Given the description of an element on the screen output the (x, y) to click on. 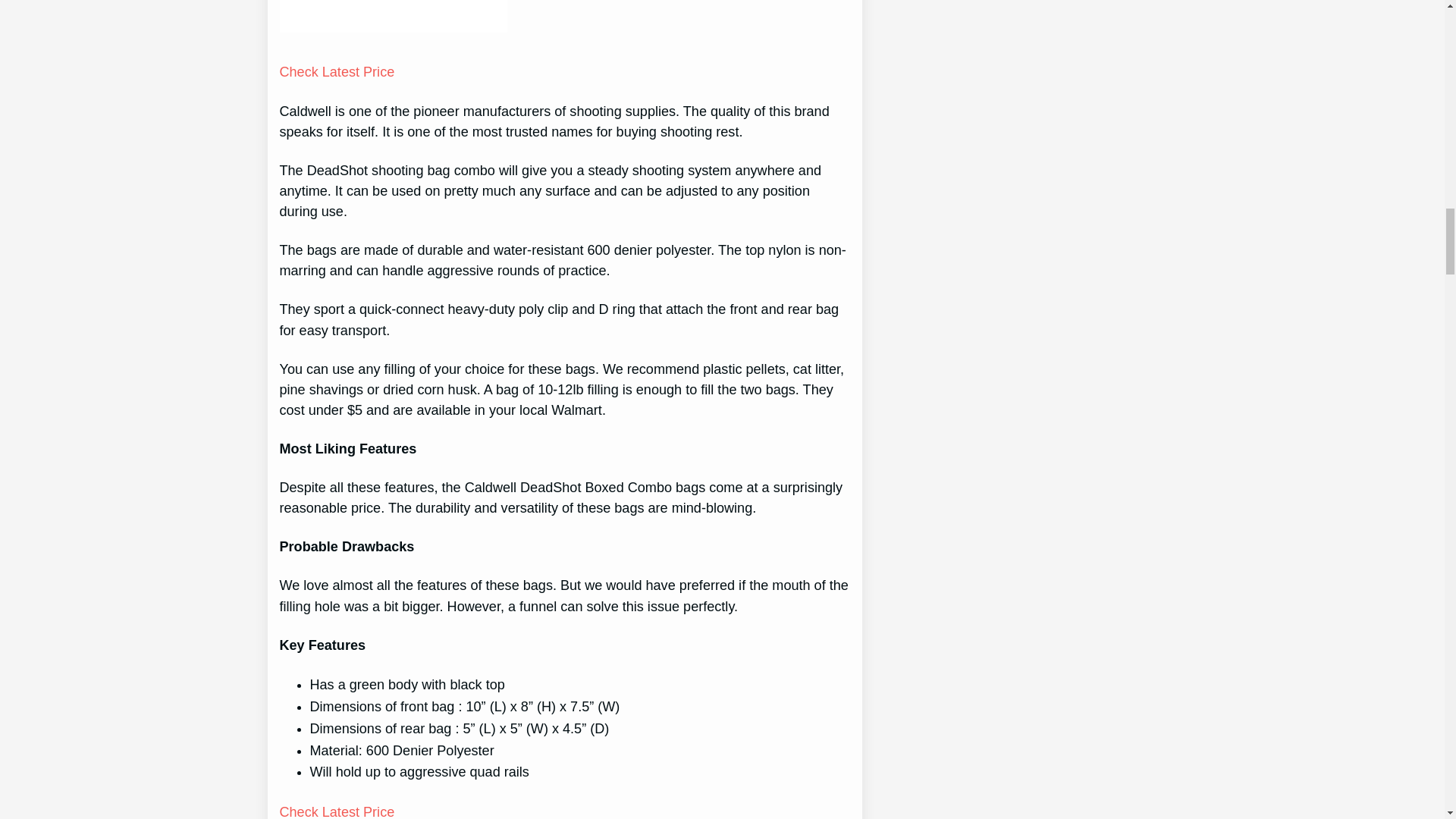
Check Latest Price (336, 71)
Check Latest Price (336, 811)
